Given the description of an element on the screen output the (x, y) to click on. 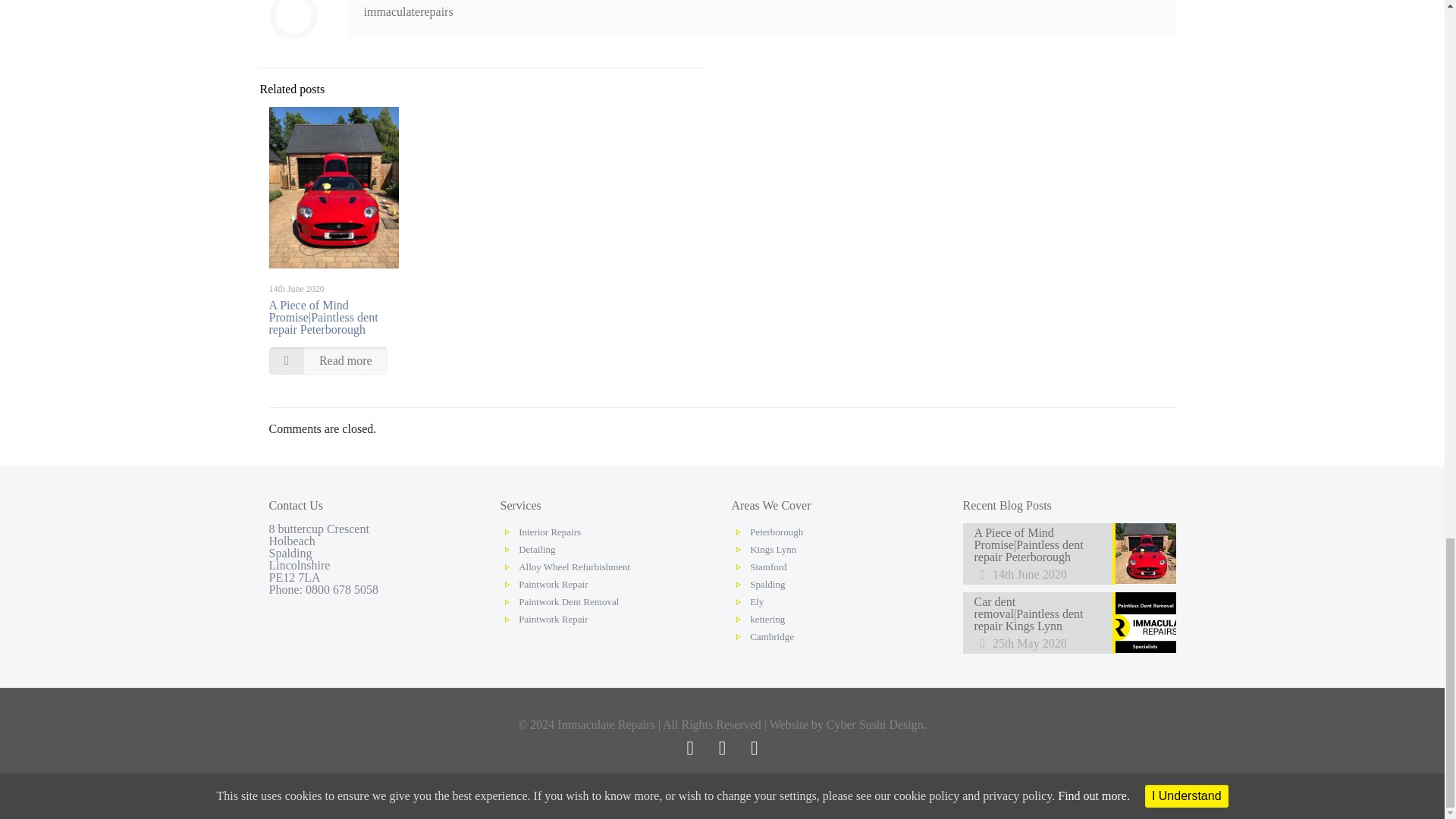
Twitter (721, 750)
Facebook (690, 750)
Instagram (754, 750)
